Given the description of an element on the screen output the (x, y) to click on. 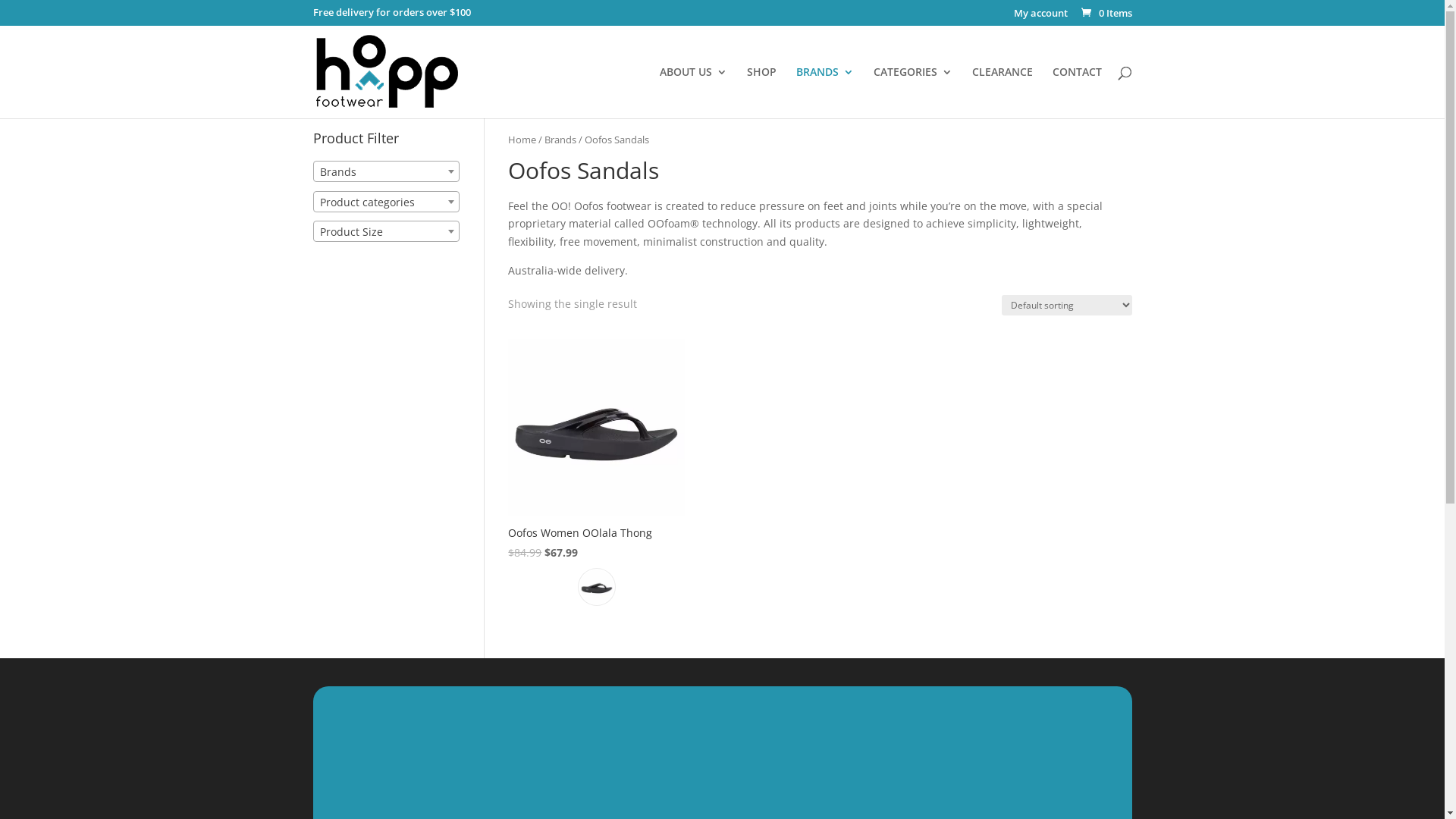
CATEGORIES Element type: text (912, 92)
CONTACT Element type: text (1076, 92)
CLEARANCE Element type: text (1002, 92)
ABOUT US Element type: text (693, 92)
My account Element type: text (1039, 16)
0 Items Element type: text (1104, 12)
SHOP Element type: text (760, 92)
Oofos Women OOlala Thong
$84.99 $67.99 Element type: text (596, 449)
BRANDS Element type: text (824, 92)
Home Element type: text (522, 139)
Black Element type: hover (596, 586)
